Given the description of an element on the screen output the (x, y) to click on. 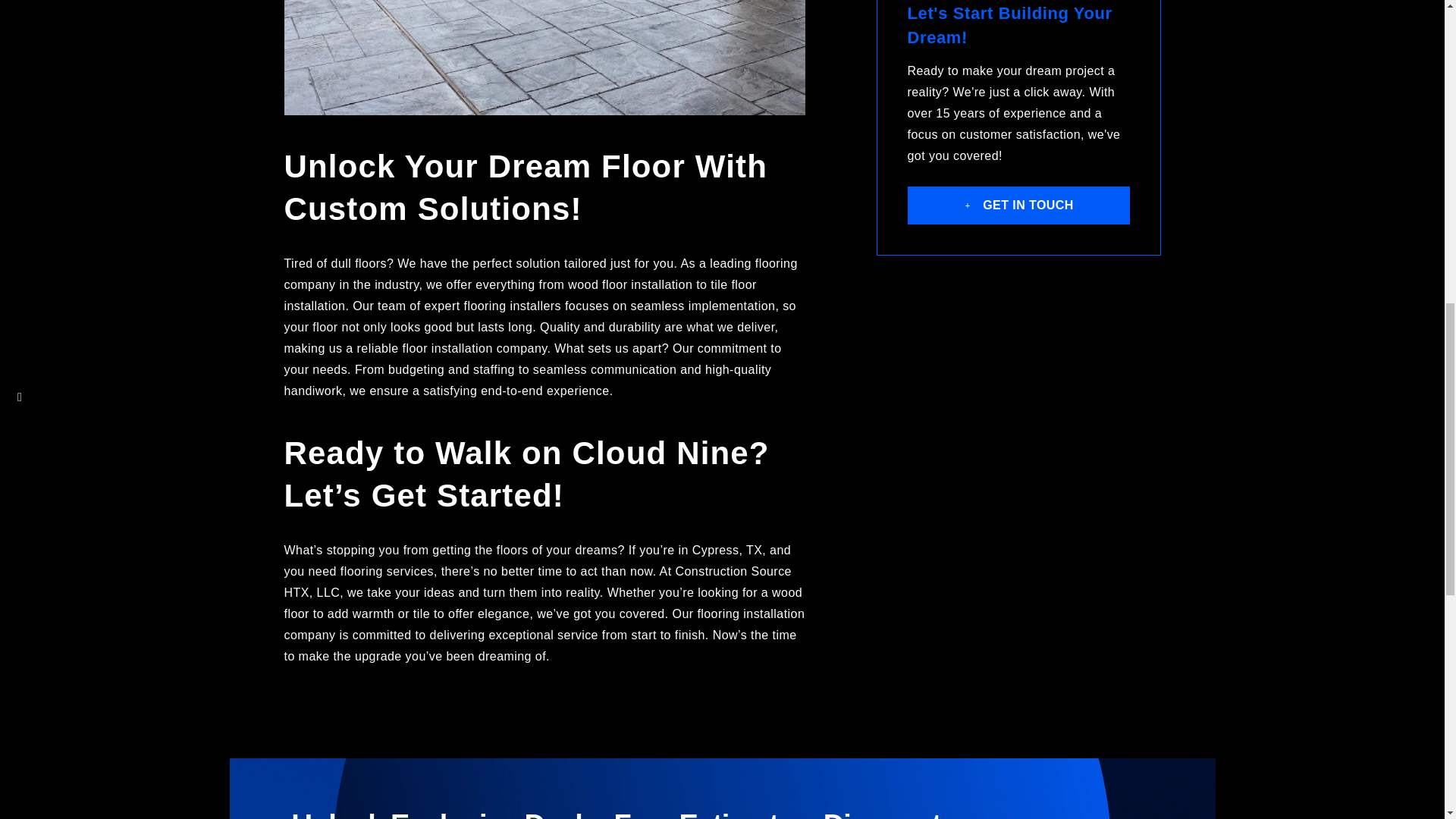
outdoor construction of a beige house (544, 57)
